Given the description of an element on the screen output the (x, y) to click on. 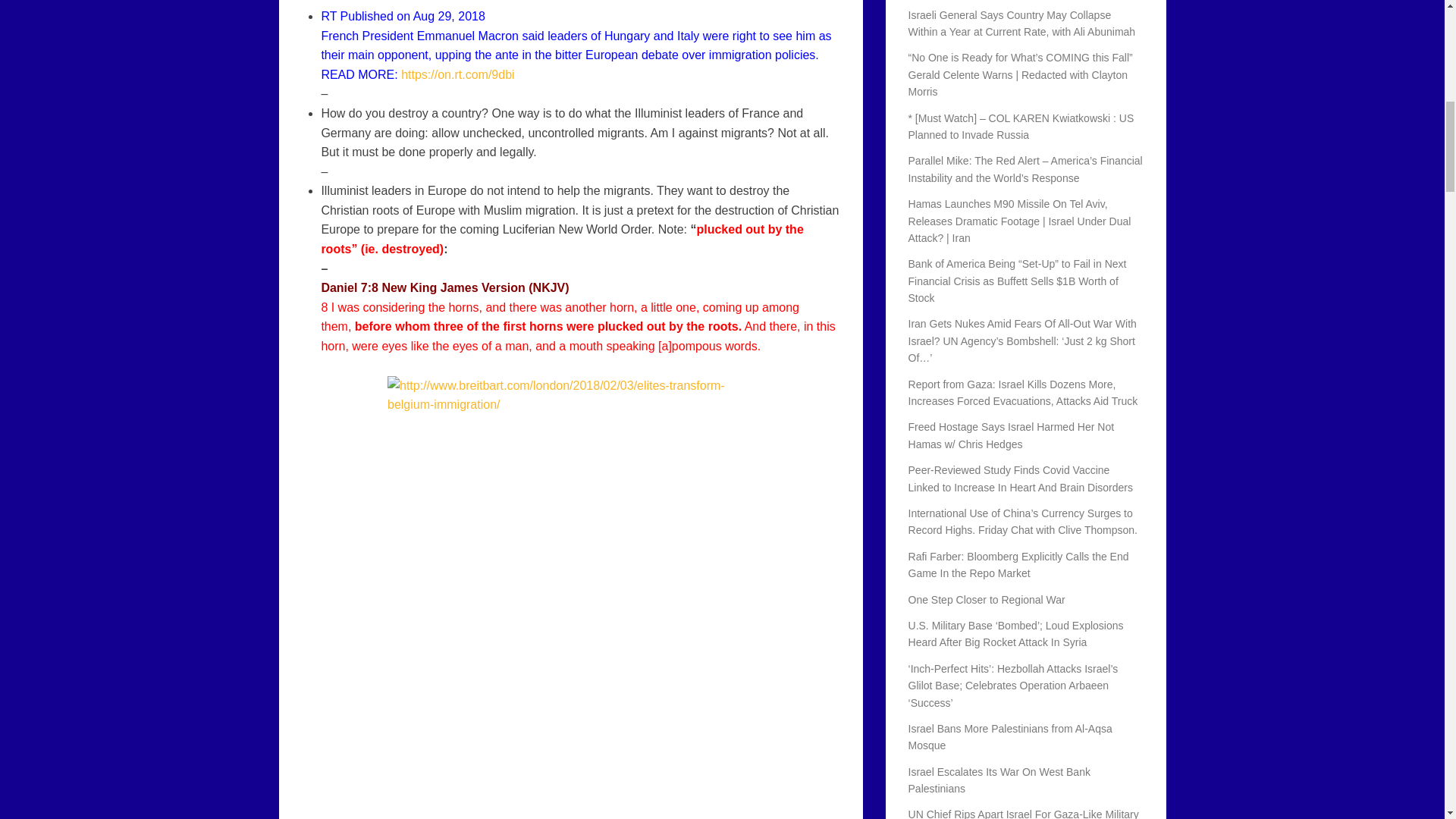
One Step Closer to Regional War (986, 599)
Israel Bans More Palestinians from Al-Aqsa Mosque (1010, 736)
RT (328, 15)
Israel Escalates Its War On West Bank Palestinians (999, 779)
